Given the description of an element on the screen output the (x, y) to click on. 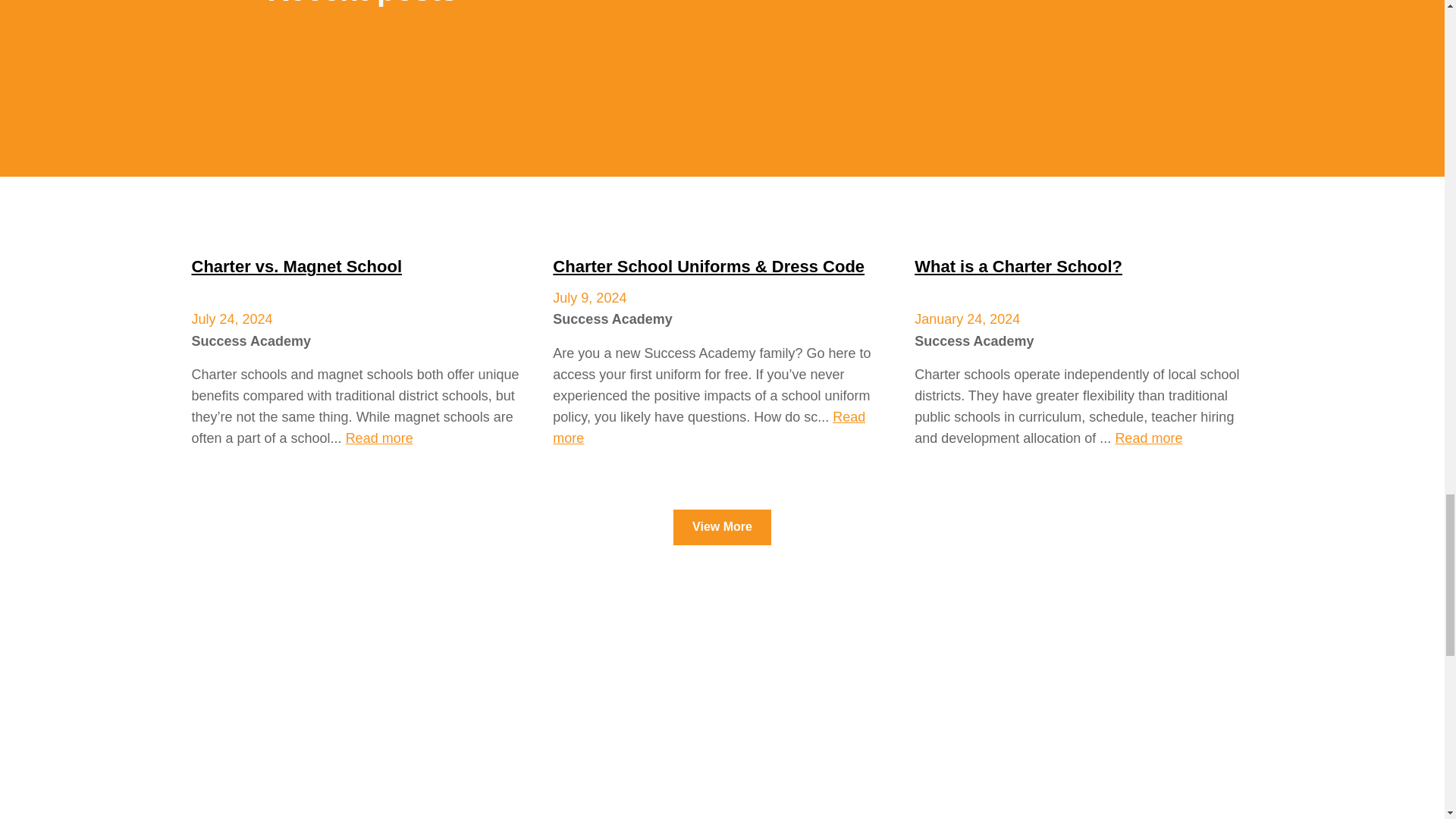
Read more (379, 437)
Charter vs. Magnet School (295, 266)
